Given the description of an element on the screen output the (x, y) to click on. 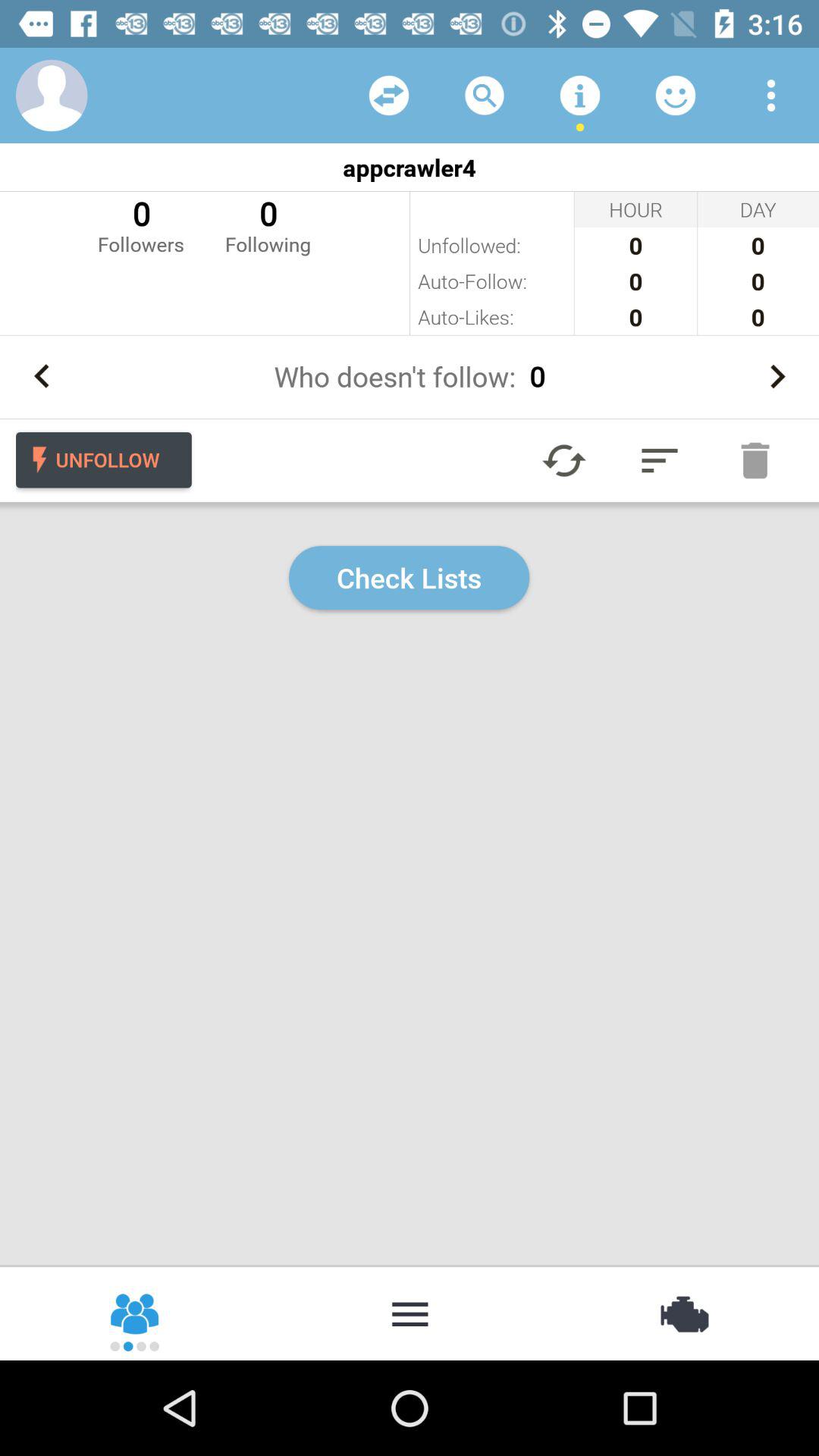
view profile (51, 95)
